Given the description of an element on the screen output the (x, y) to click on. 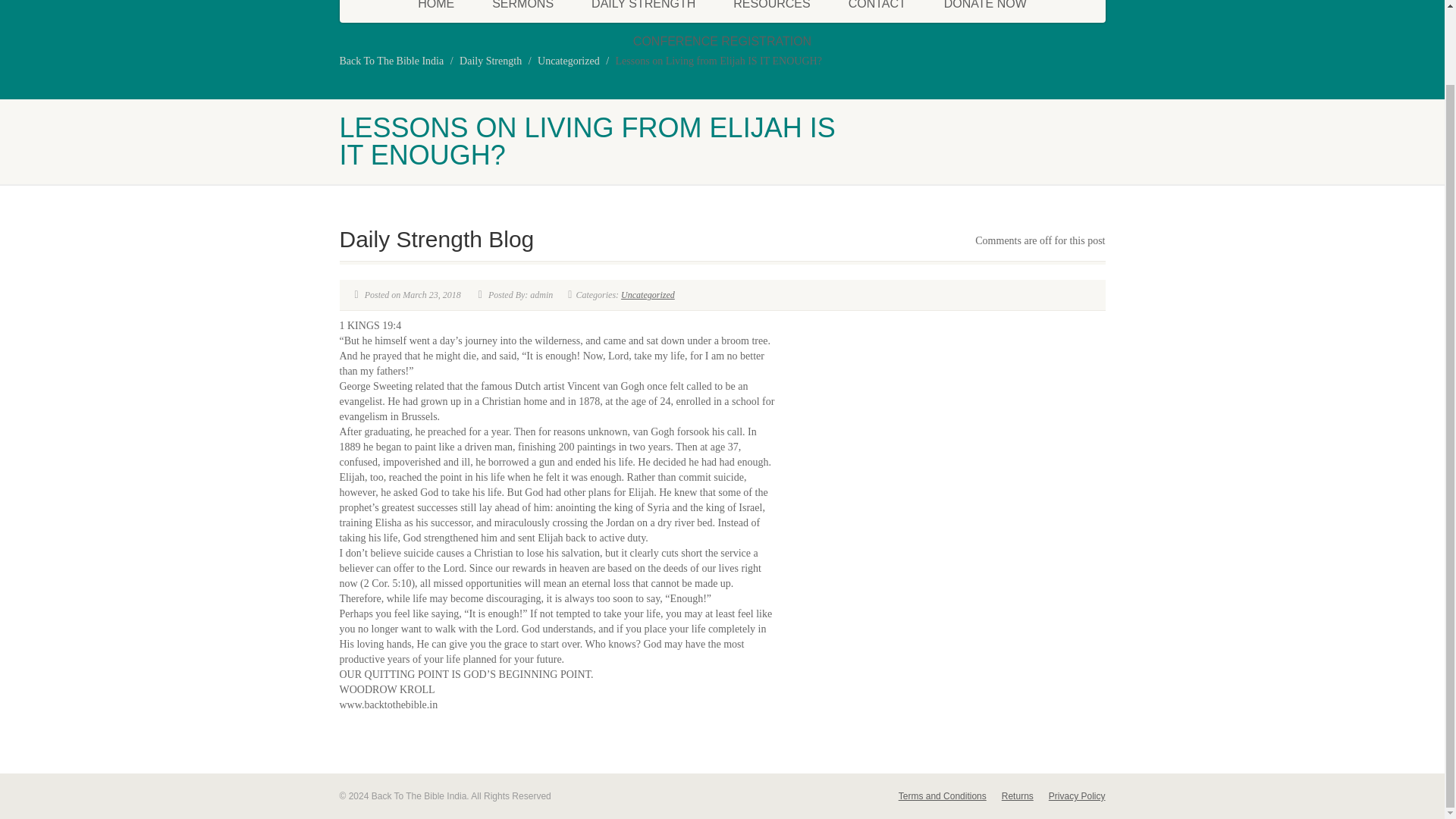
Go to Daily Strength. (490, 60)
Terms and Conditions (949, 795)
Uncategorized (568, 60)
DAILY STRENGTH (643, 11)
SERMONS (522, 11)
Returns (1024, 795)
Uncategorized (648, 294)
CONFERENCE REGISTRATION (721, 41)
Daily Strength (490, 60)
Back To The Bible India (391, 60)
CONTACT (876, 11)
Go to Back To The Bible India. (391, 60)
HOME (435, 11)
Go to the Uncategorized Category archives. (568, 60)
DONATE NOW (984, 11)
